Given the description of an element on the screen output the (x, y) to click on. 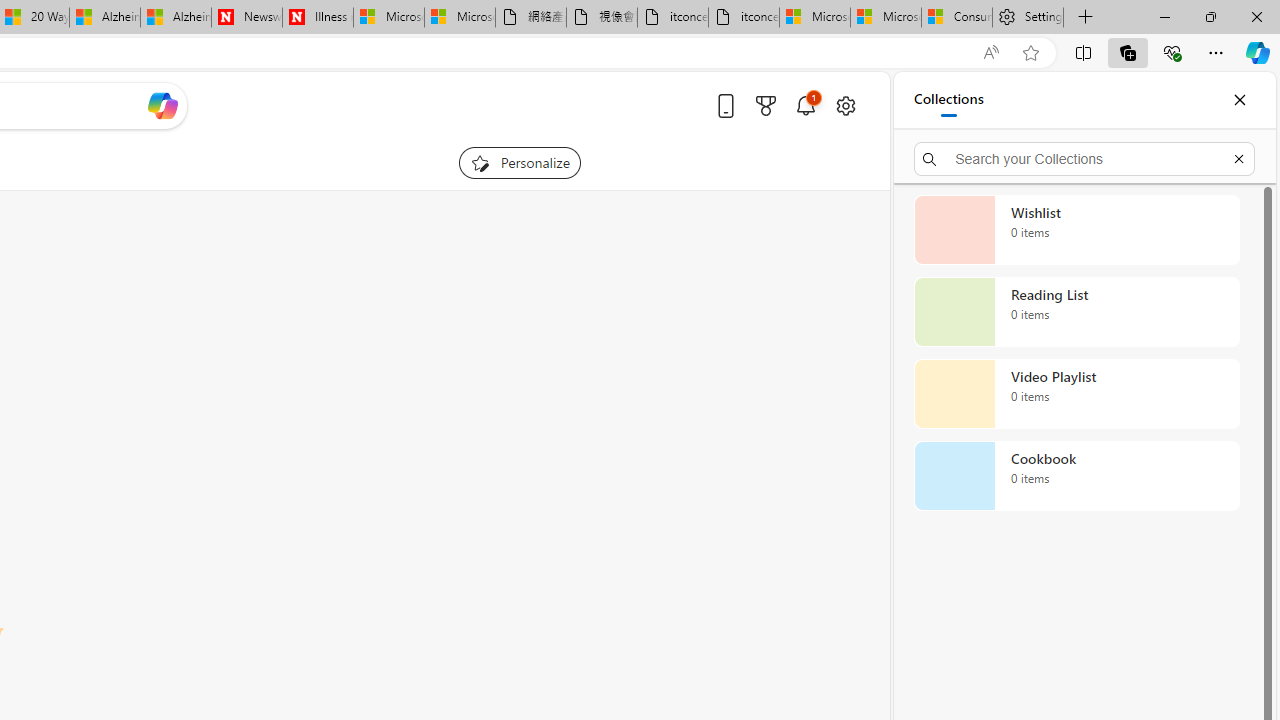
Wishlist collection, 0 items (1076, 229)
